Given the description of an element on the screen output the (x, y) to click on. 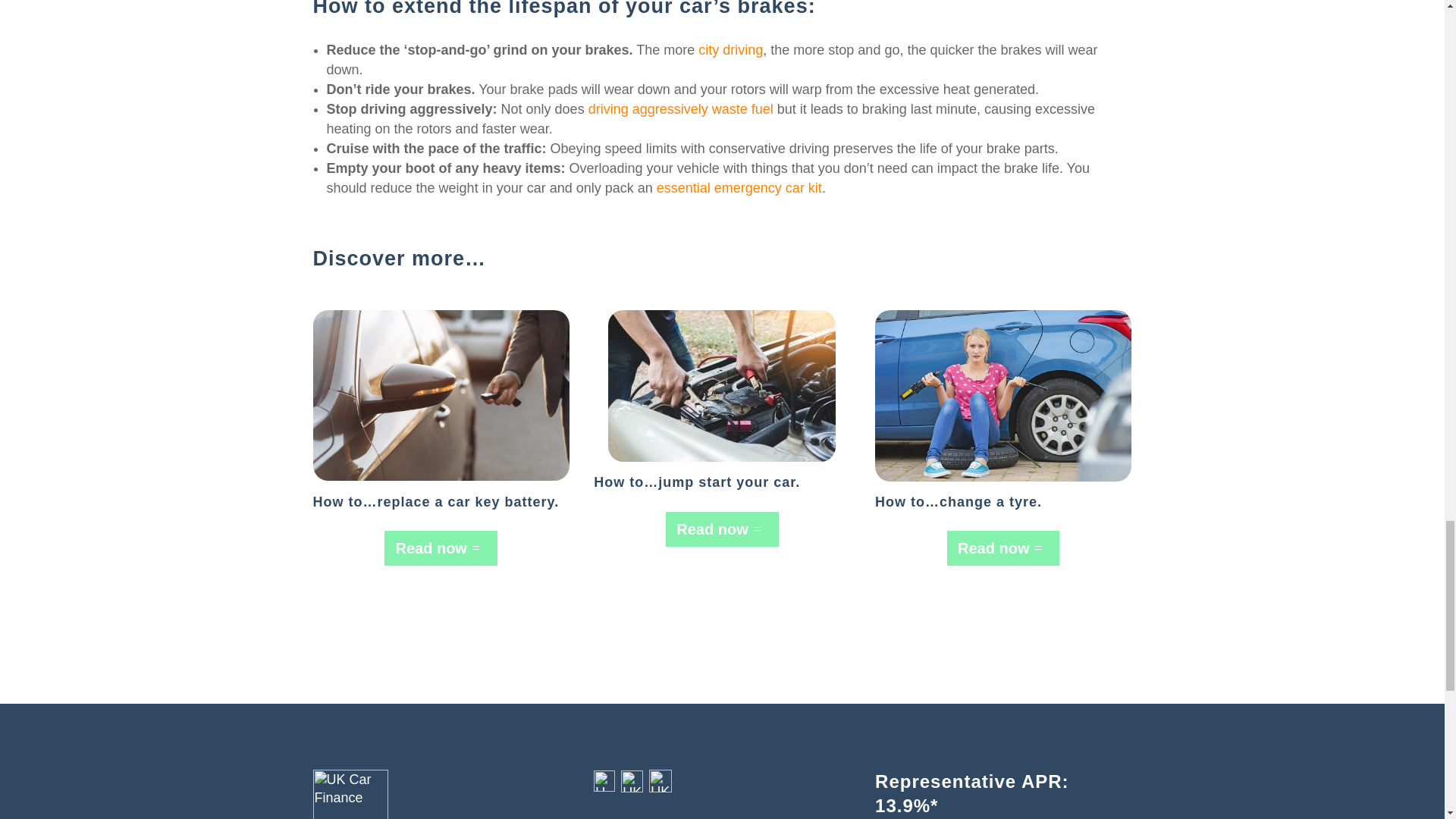
UK Car Finance Instagram icon (604, 780)
UK Car Finance Twitter icon (632, 781)
UK Car Finance Facebook icon (660, 780)
